Given the description of an element on the screen output the (x, y) to click on. 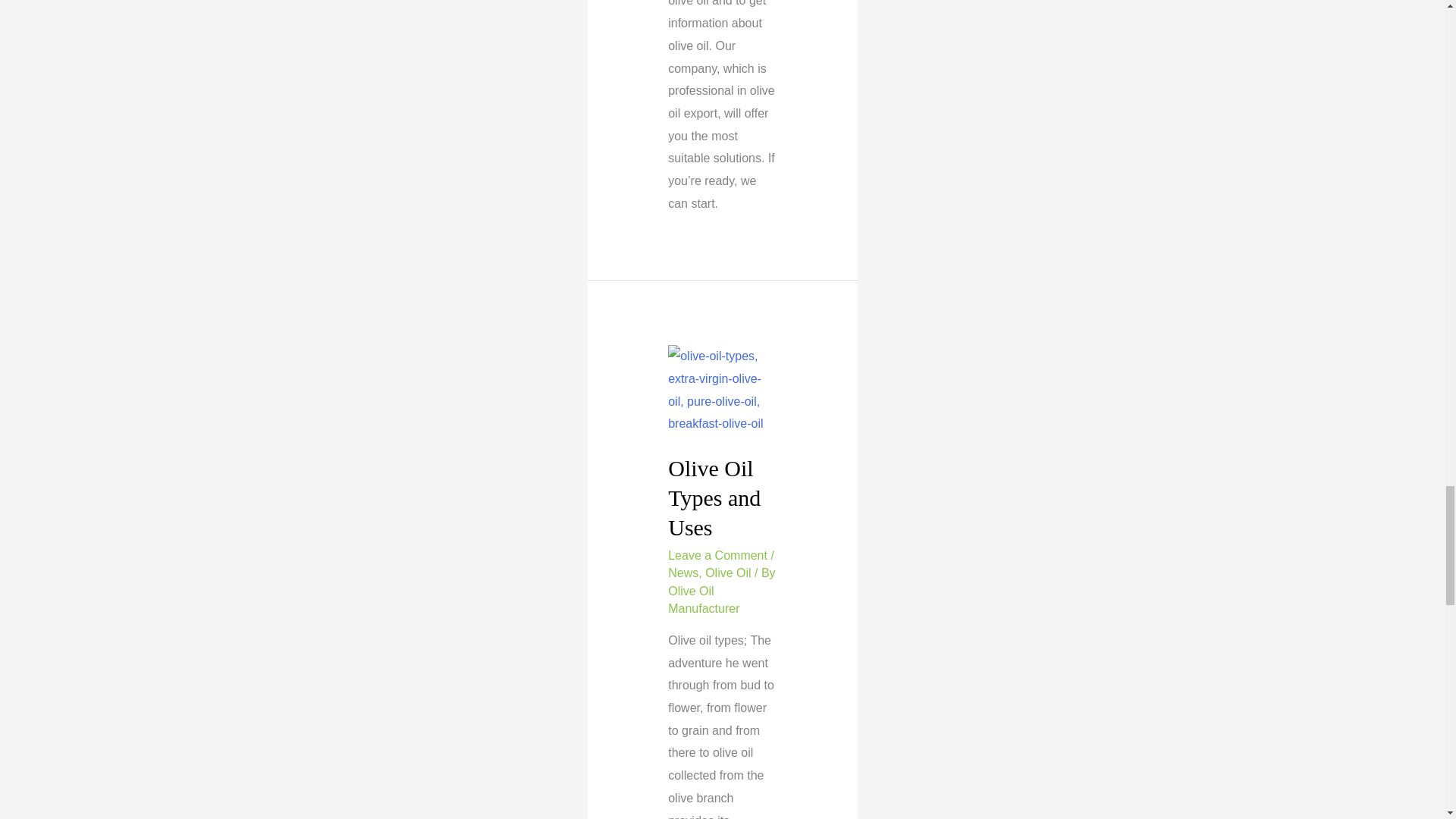
Leave a Comment (717, 554)
Olive Oil Types and Uses (714, 497)
View all posts by Olive Oil Manufacturer (703, 599)
News (683, 572)
Olive Oil (727, 572)
Olive Oil Manufacturer (703, 599)
